Given the description of an element on the screen output the (x, y) to click on. 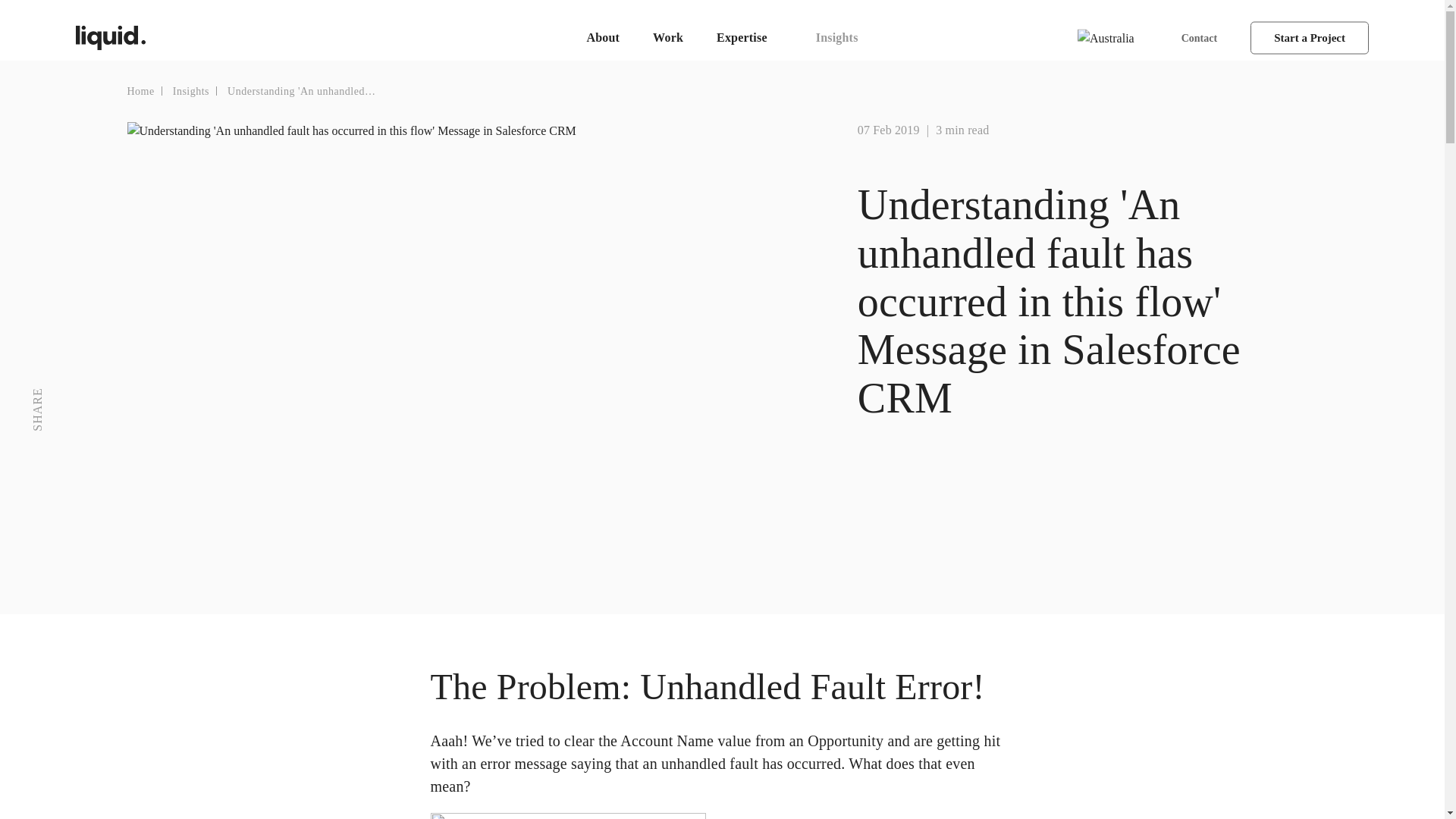
Home (140, 91)
Insights (837, 37)
Expertise (749, 37)
Start a Project (1309, 37)
Work (668, 37)
About (602, 37)
Contact (1198, 37)
Insights (190, 91)
